Given the description of an element on the screen output the (x, y) to click on. 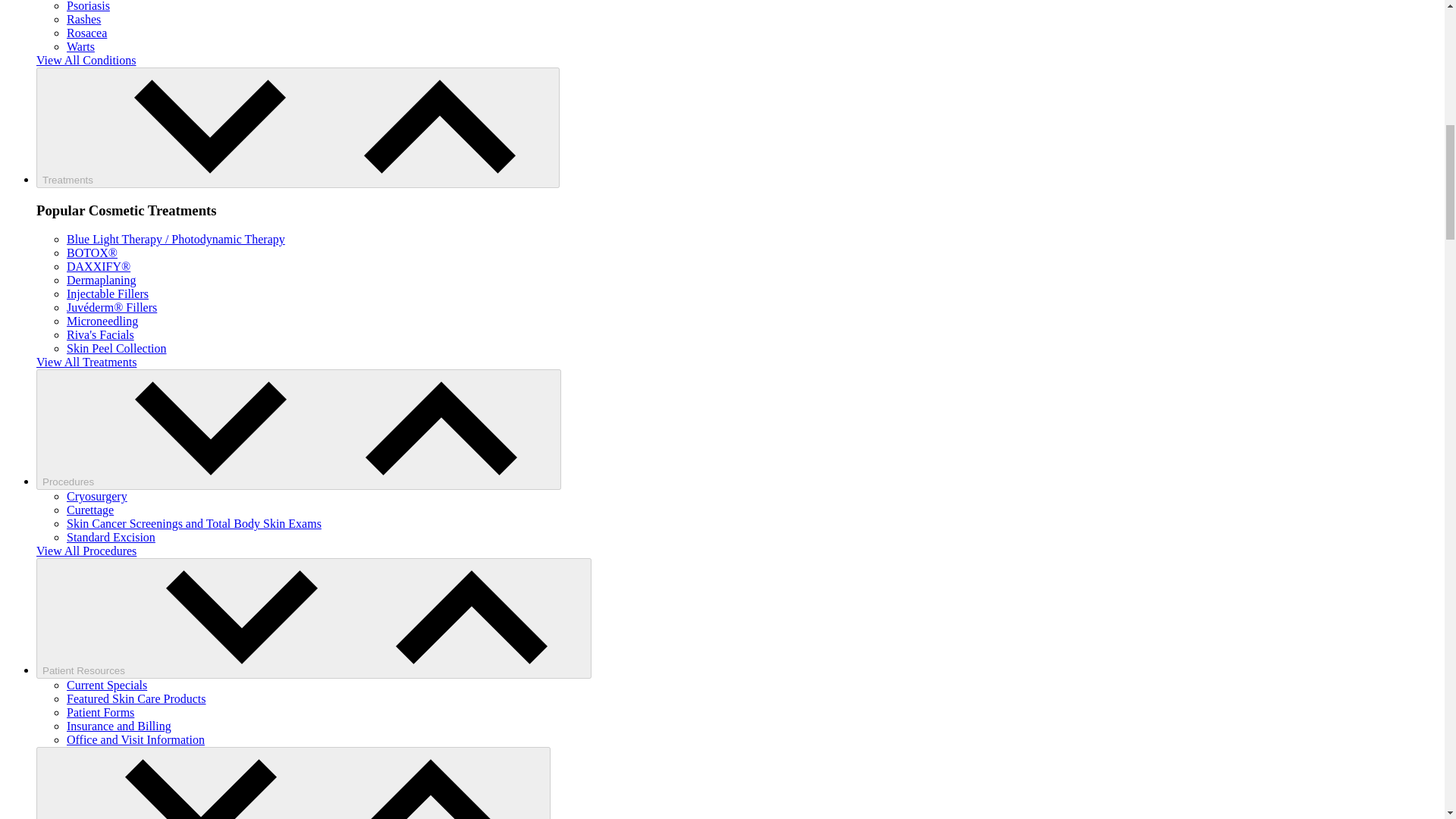
View All Conditions (86, 60)
Skin Peel Collection (116, 348)
Dermaplaning (101, 279)
View All Treatments (86, 361)
Psoriasis (88, 6)
Rosacea (86, 32)
Microneedling (102, 320)
Procedures (298, 429)
Riva's Facials (99, 334)
Injectable Fillers (107, 293)
Warts (80, 46)
Rashes (83, 19)
Treatments (297, 127)
